Given the description of an element on the screen output the (x, y) to click on. 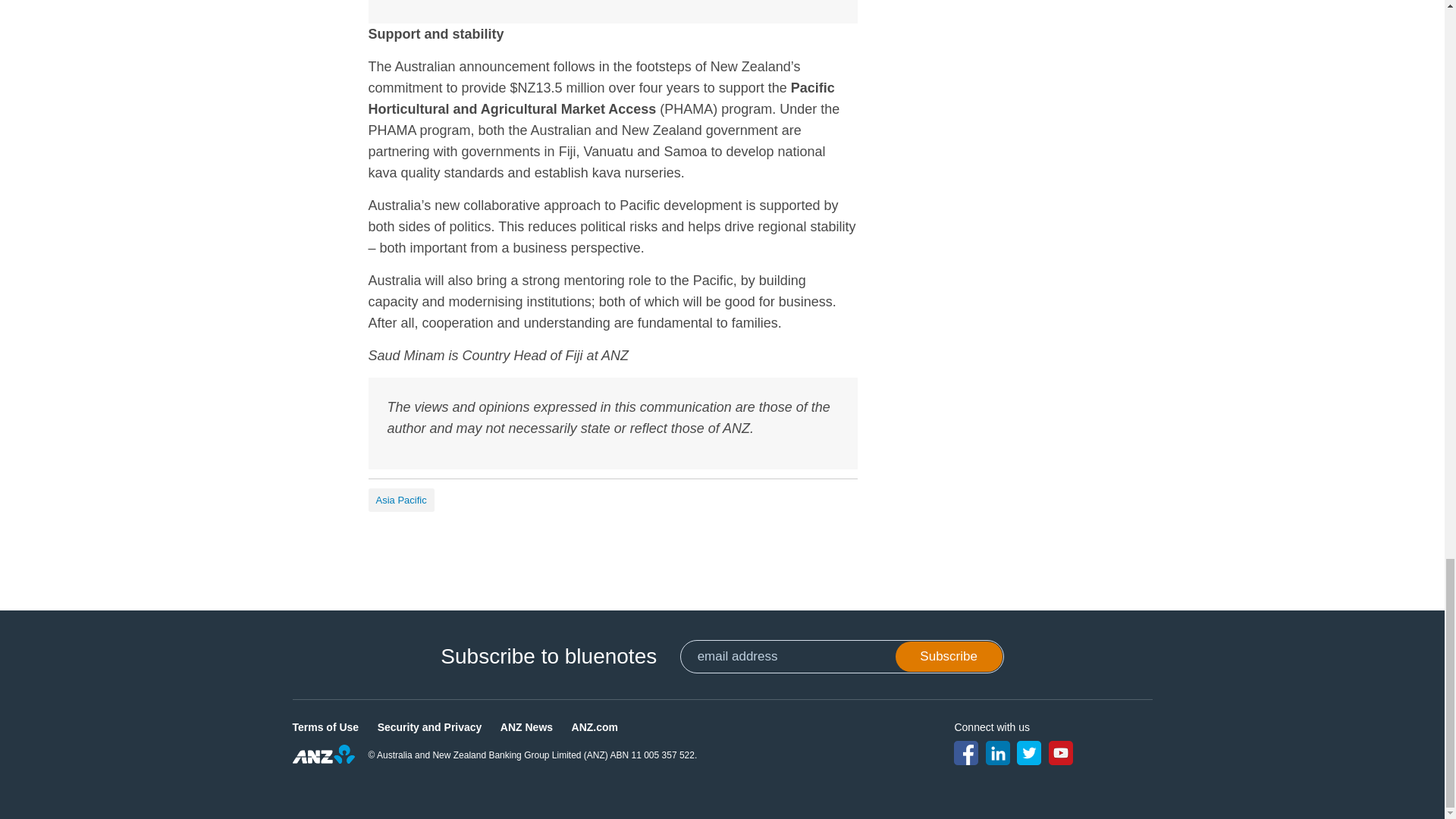
Asia Pacific (400, 499)
Security and Privacy (429, 727)
Terms of Use (325, 727)
